Given the description of an element on the screen output the (x, y) to click on. 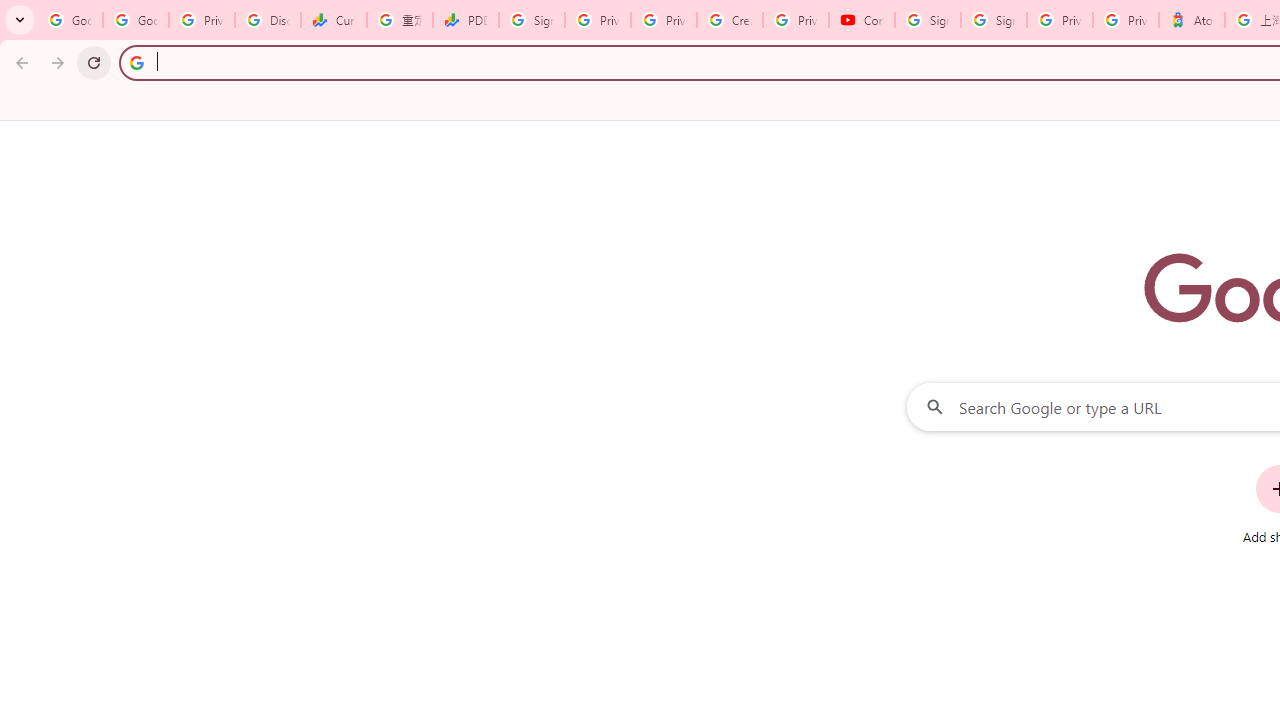
Sign in - Google Accounts (531, 20)
PDD Holdings Inc - ADR (PDD) Price & News - Google Finance (465, 20)
Sign in - Google Accounts (993, 20)
Create your Google Account (729, 20)
Google Workspace Admin Community (70, 20)
Currencies - Google Finance (333, 20)
